Given the description of an element on the screen output the (x, y) to click on. 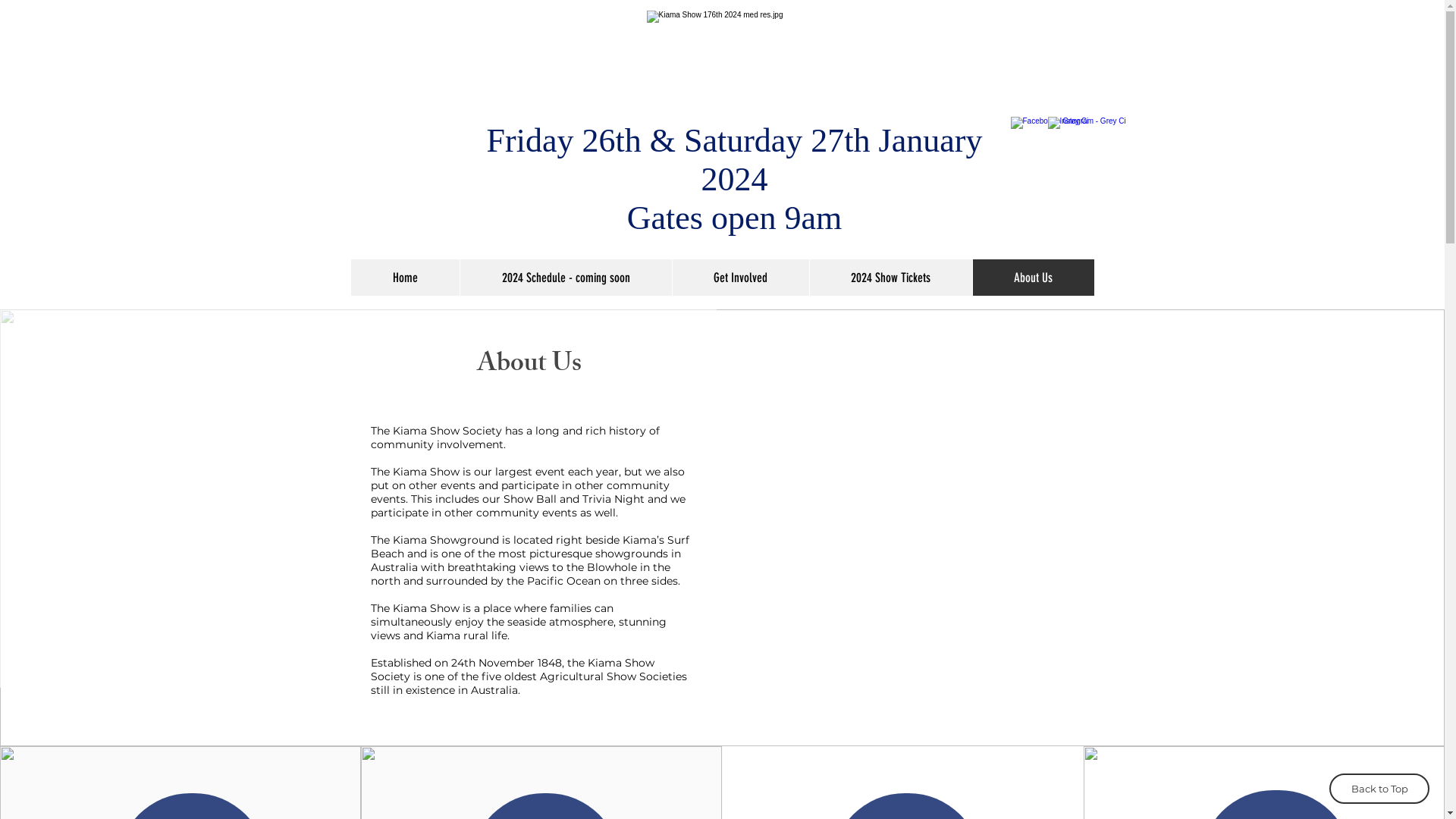
Get Involved Element type: text (740, 277)
About Us Element type: text (1033, 277)
2024 Schedule - coming soon Element type: text (565, 277)
Back to Top Element type: text (1379, 788)
Home Element type: text (404, 277)
2024 Show Tickets Element type: text (889, 277)
